Given the description of an element on the screen output the (x, y) to click on. 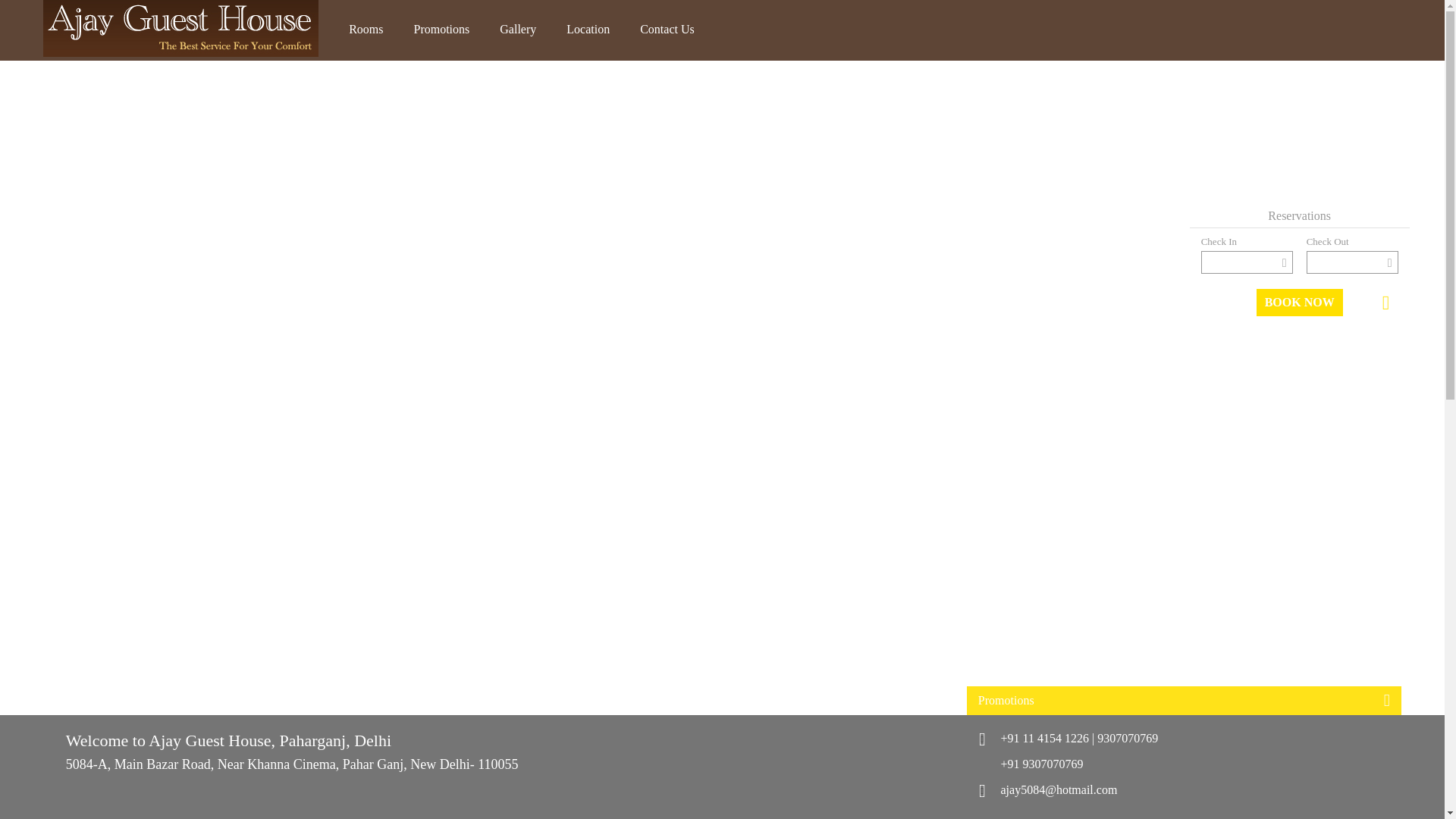
Book Now (1299, 302)
Location (587, 30)
Rooms (365, 30)
Promotions (441, 30)
Promotions (1183, 700)
Book Now (1299, 302)
Gallery (517, 30)
Contact Us (667, 30)
